Given the description of an element on the screen output the (x, y) to click on. 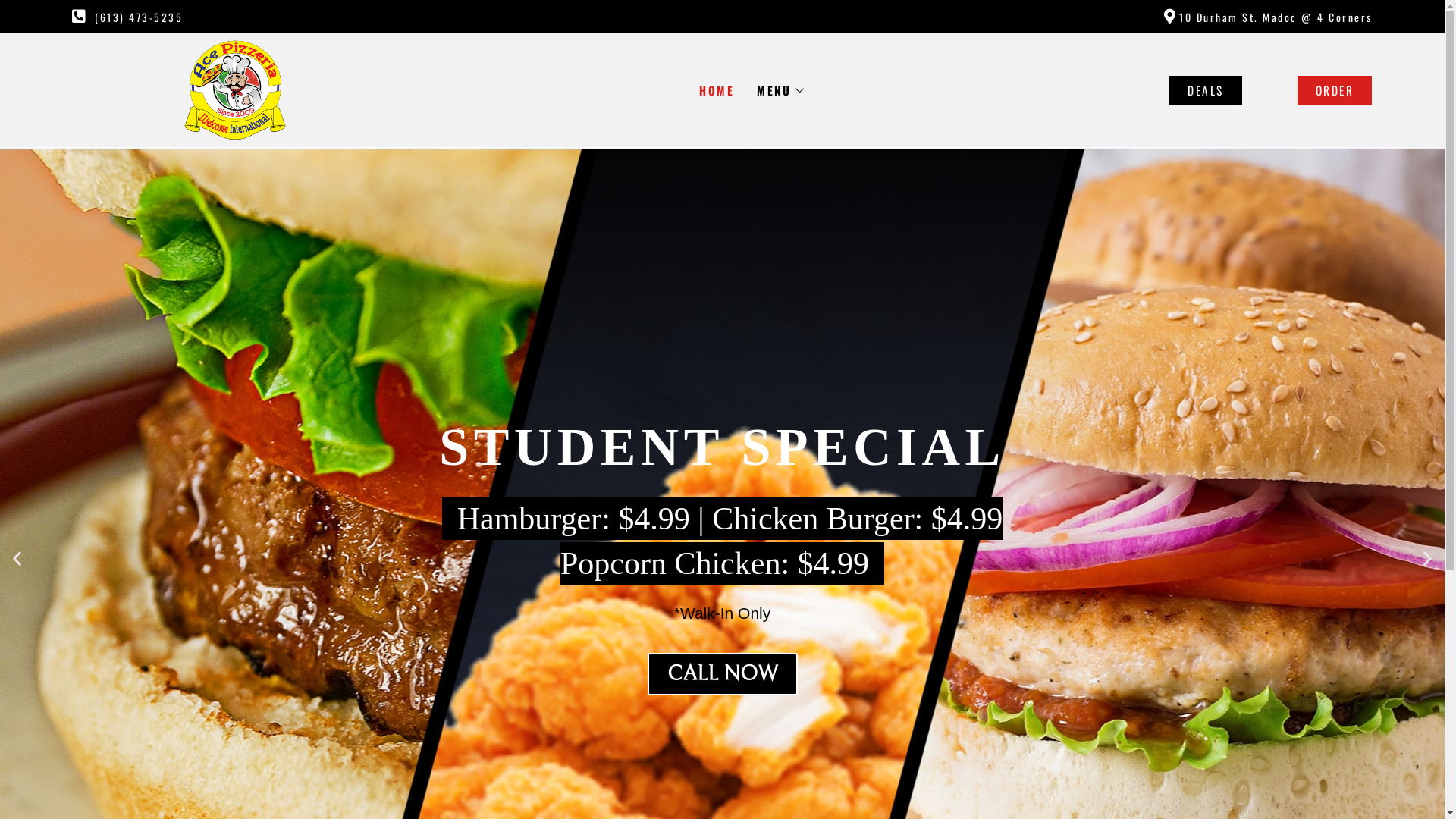
CALL NOW Element type: text (722, 673)
MENU Element type: text (783, 89)
DEALS Element type: text (1205, 90)
(613) 473-5235 Element type: text (396, 16)
HOME Element type: text (716, 89)
ORDER Element type: text (1334, 90)
